Given the description of an element on the screen output the (x, y) to click on. 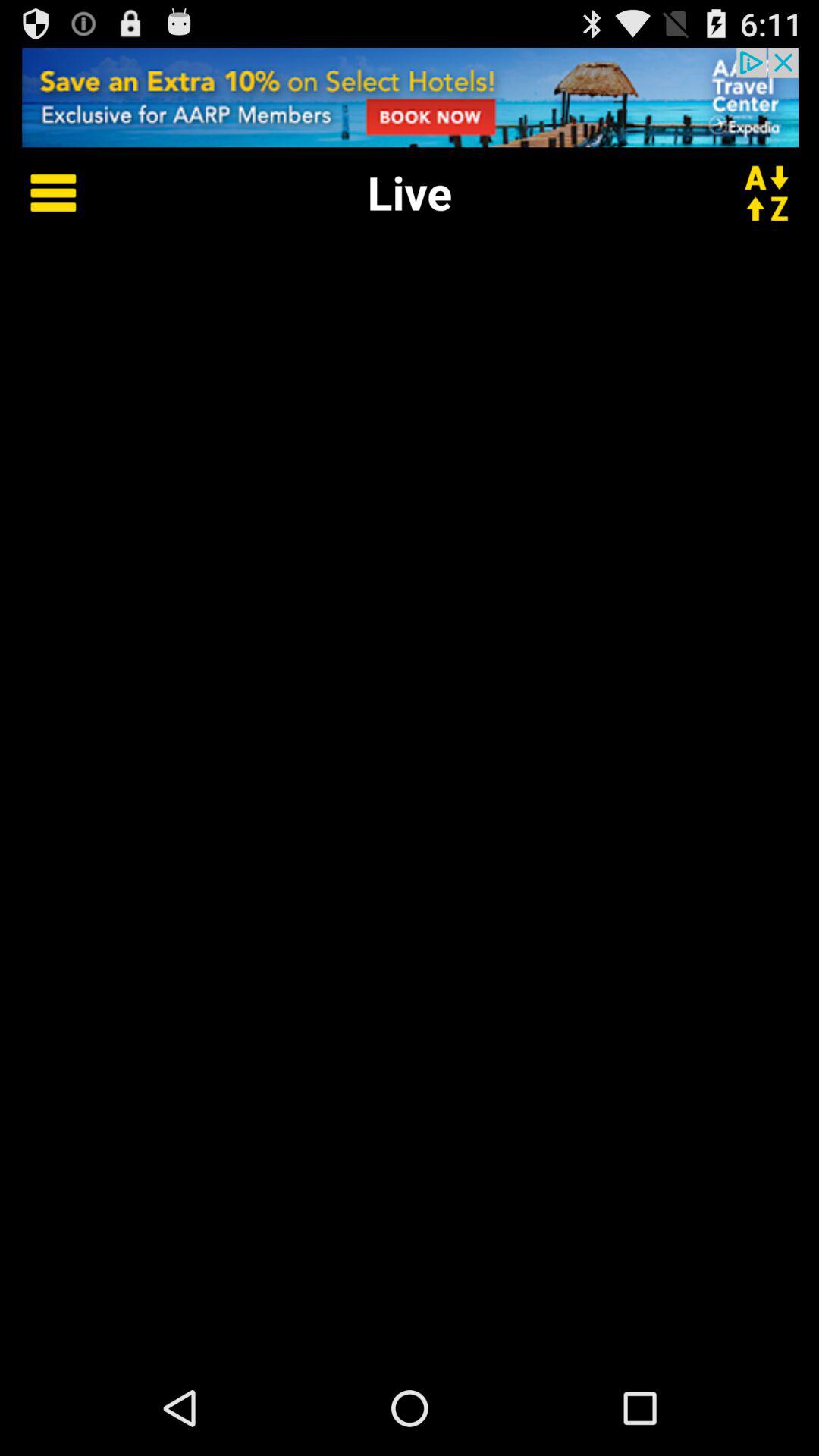
toggle alphabetical order (776, 192)
